Given the description of an element on the screen output the (x, y) to click on. 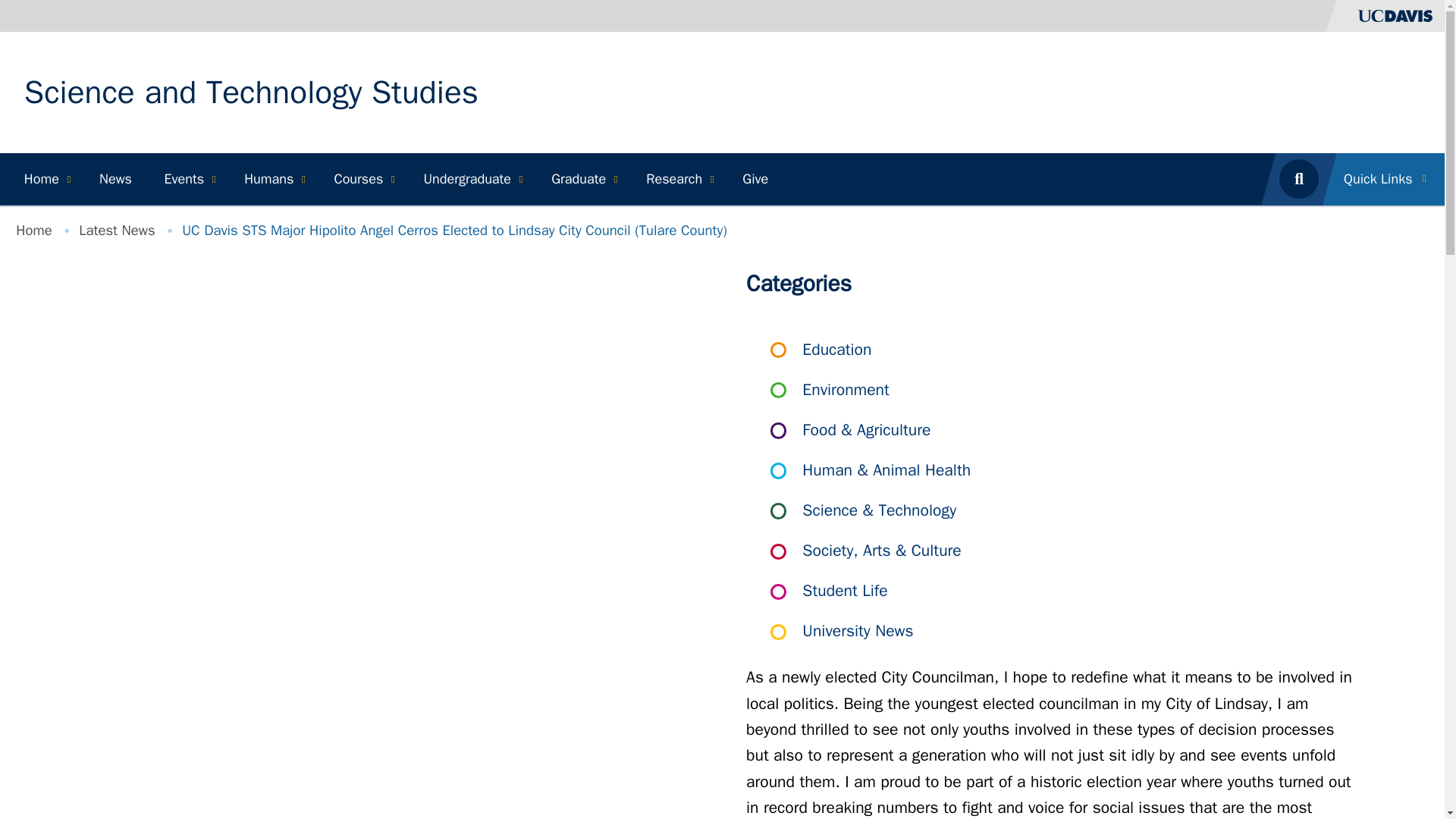
Science and Technology Studies (251, 92)
Courses (362, 179)
Humans (272, 179)
Undergraduate (470, 179)
Home (251, 92)
Events (187, 179)
Monday, January 18, 2021 - 1:25pm (807, 522)
News (114, 179)
Home (45, 179)
